Given the description of an element on the screen output the (x, y) to click on. 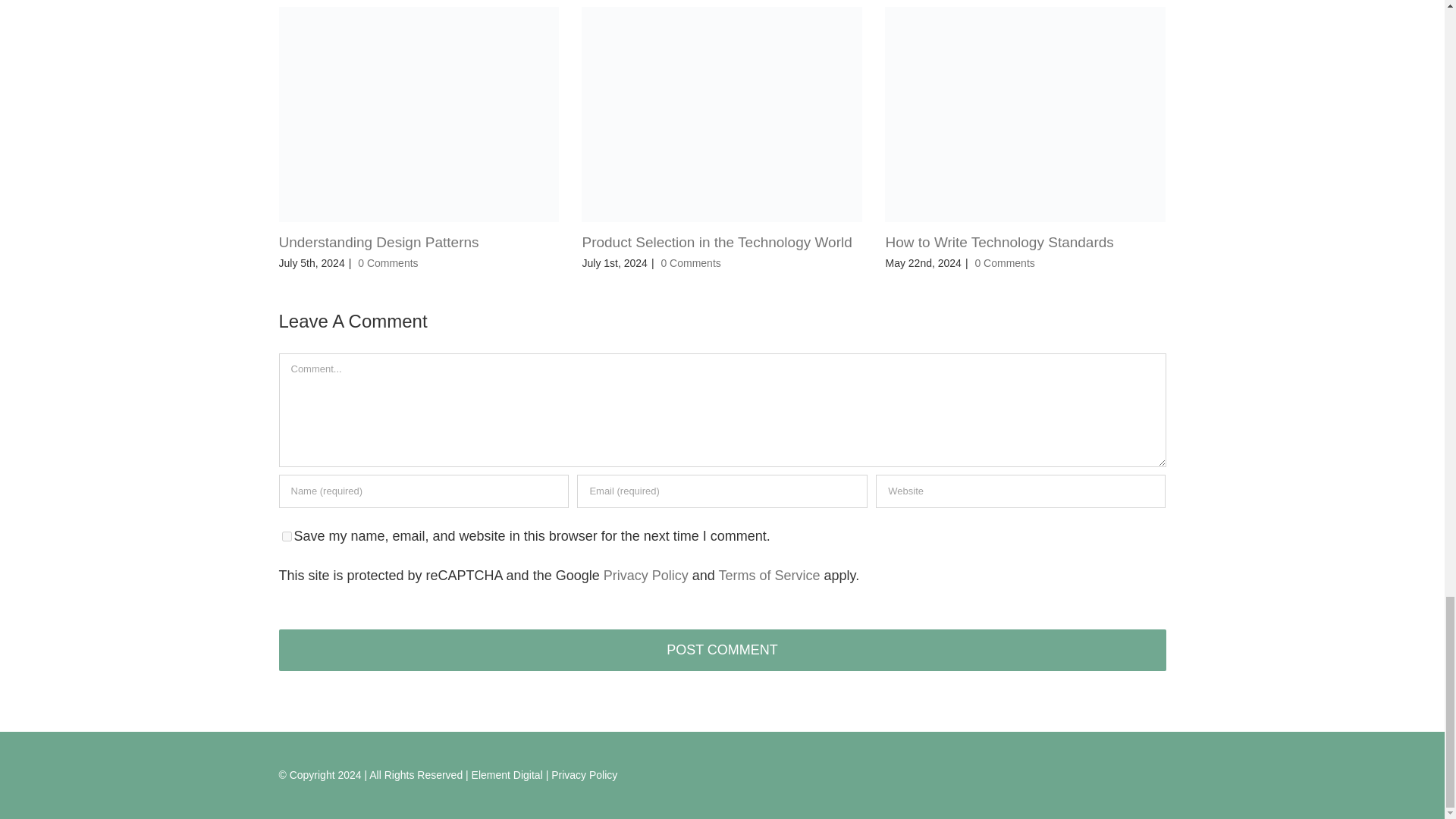
0 Comments (387, 263)
How to Write Technology Standards (999, 242)
How to Write Technology Standards (999, 242)
0 Comments (1003, 263)
Product Selection in the Technology World (715, 242)
Understanding Design Patterns (379, 242)
yes (287, 536)
0 Comments (690, 263)
Post Comment (722, 649)
Understanding Design Patterns (379, 242)
Product Selection in the Technology World (715, 242)
